Given the description of an element on the screen output the (x, y) to click on. 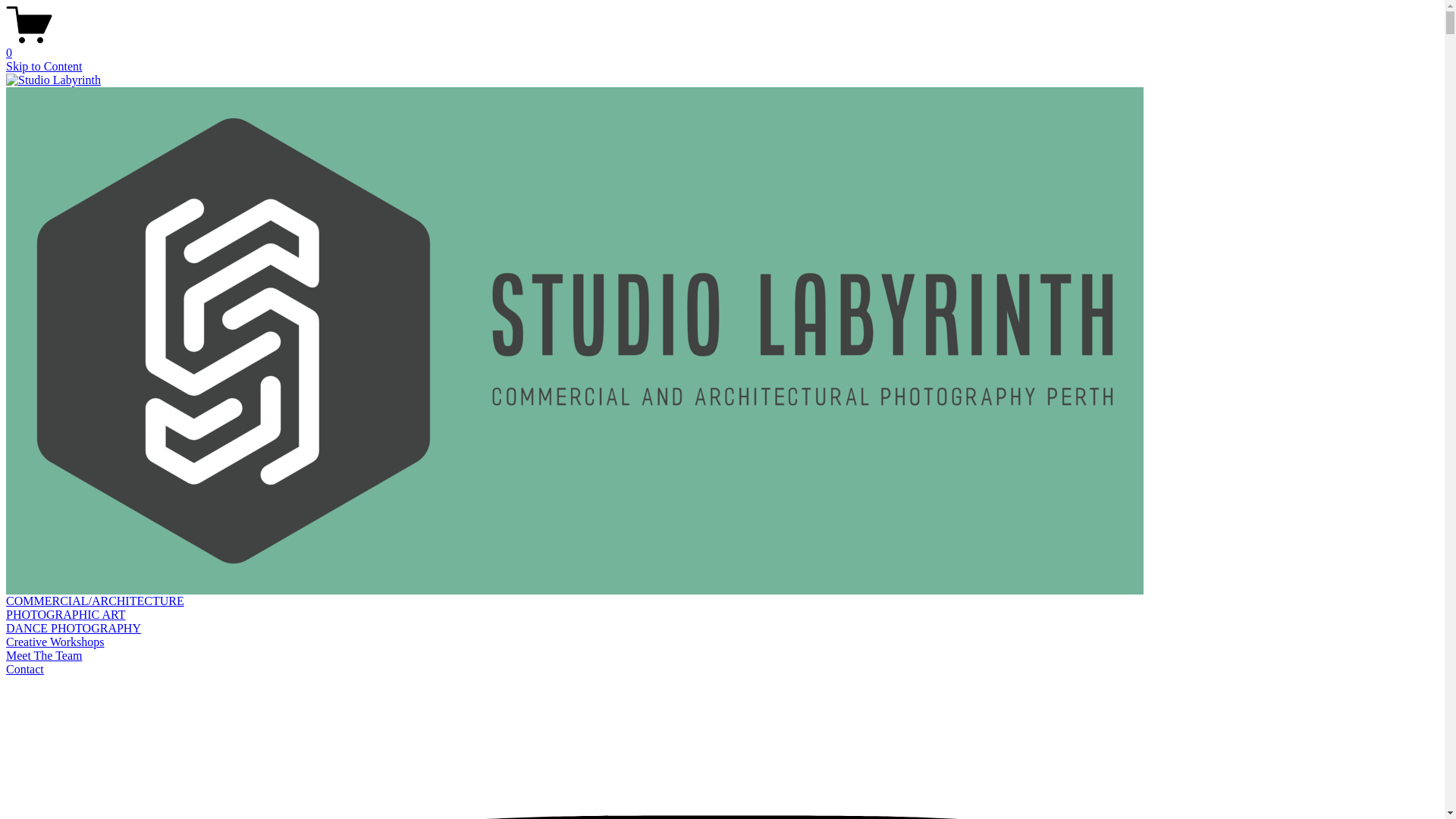
0 Element type: text (722, 45)
DANCE PHOTOGRAPHY Element type: text (73, 627)
COMMERCIAL/ARCHITECTURE Element type: text (95, 600)
PHOTOGRAPHIC ART Element type: text (65, 614)
Skip to Content Element type: text (43, 65)
Contact Element type: text (24, 668)
Creative Workshops Element type: text (55, 641)
Meet The Team Element type: text (43, 655)
